Given the description of an element on the screen output the (x, y) to click on. 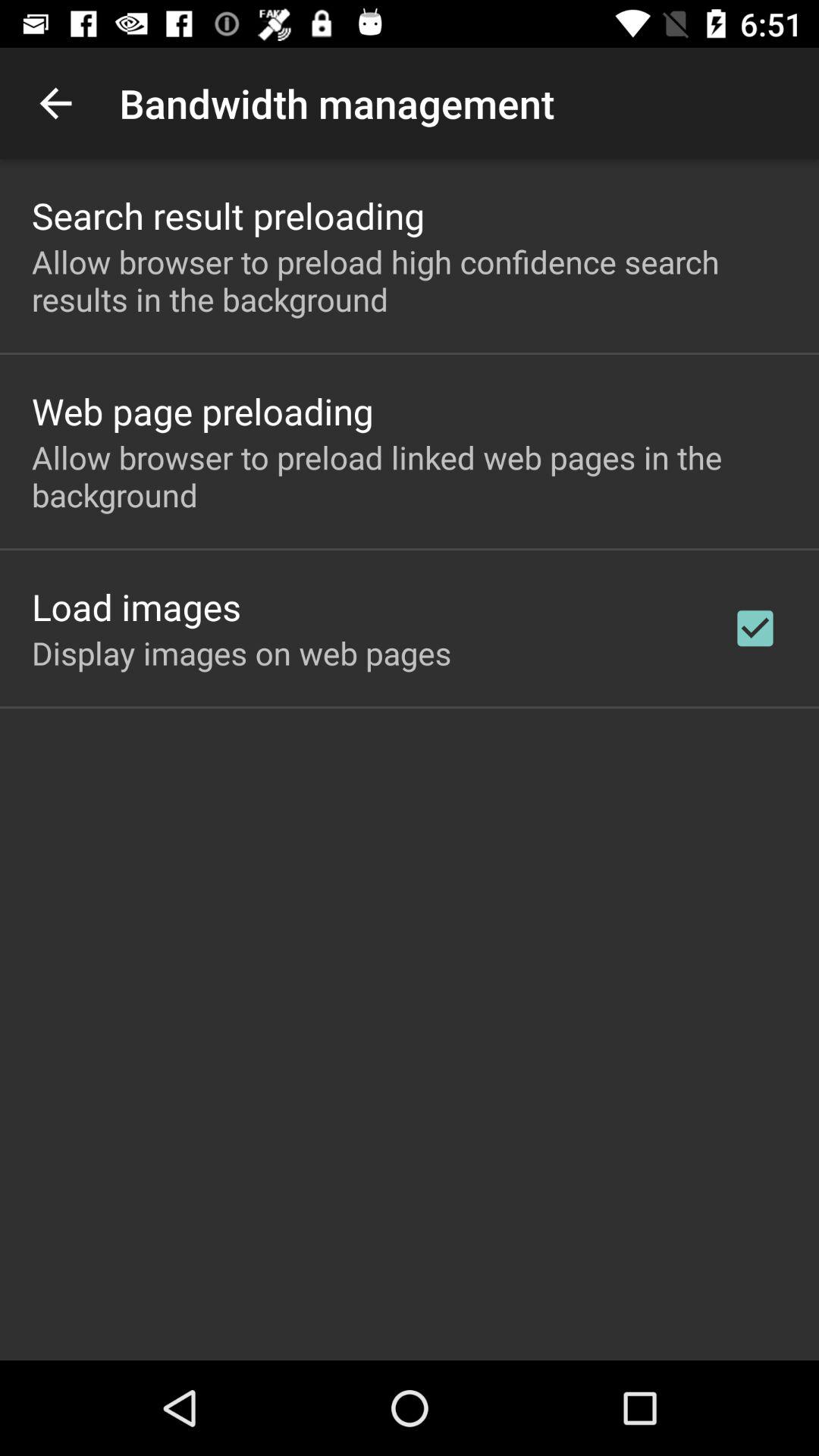
launch the icon to the left of the bandwidth management app (55, 103)
